Given the description of an element on the screen output the (x, y) to click on. 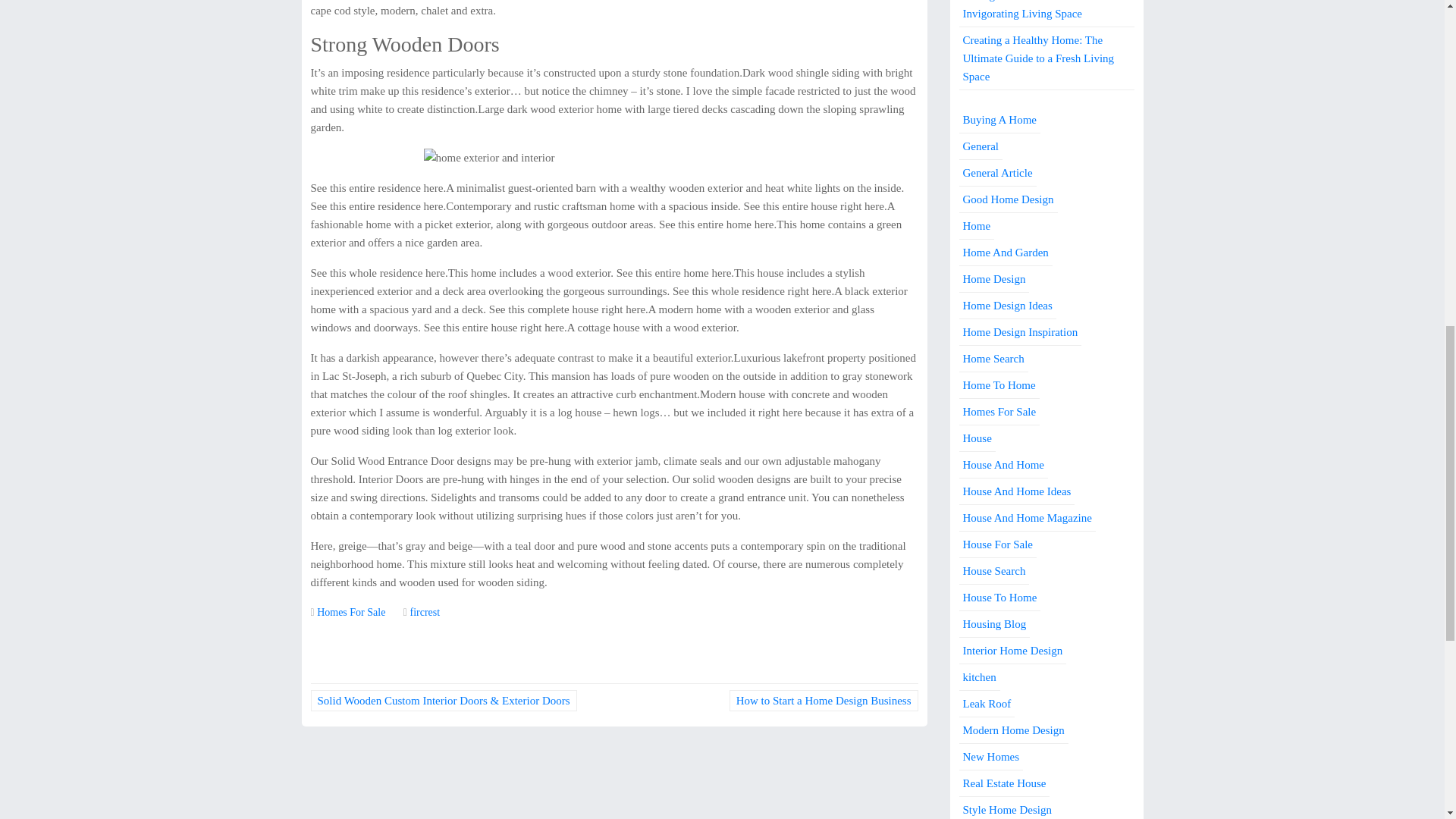
fircrest (424, 612)
How to Start a Home Design Business (823, 700)
Homes For Sale (351, 612)
